Given the description of an element on the screen output the (x, y) to click on. 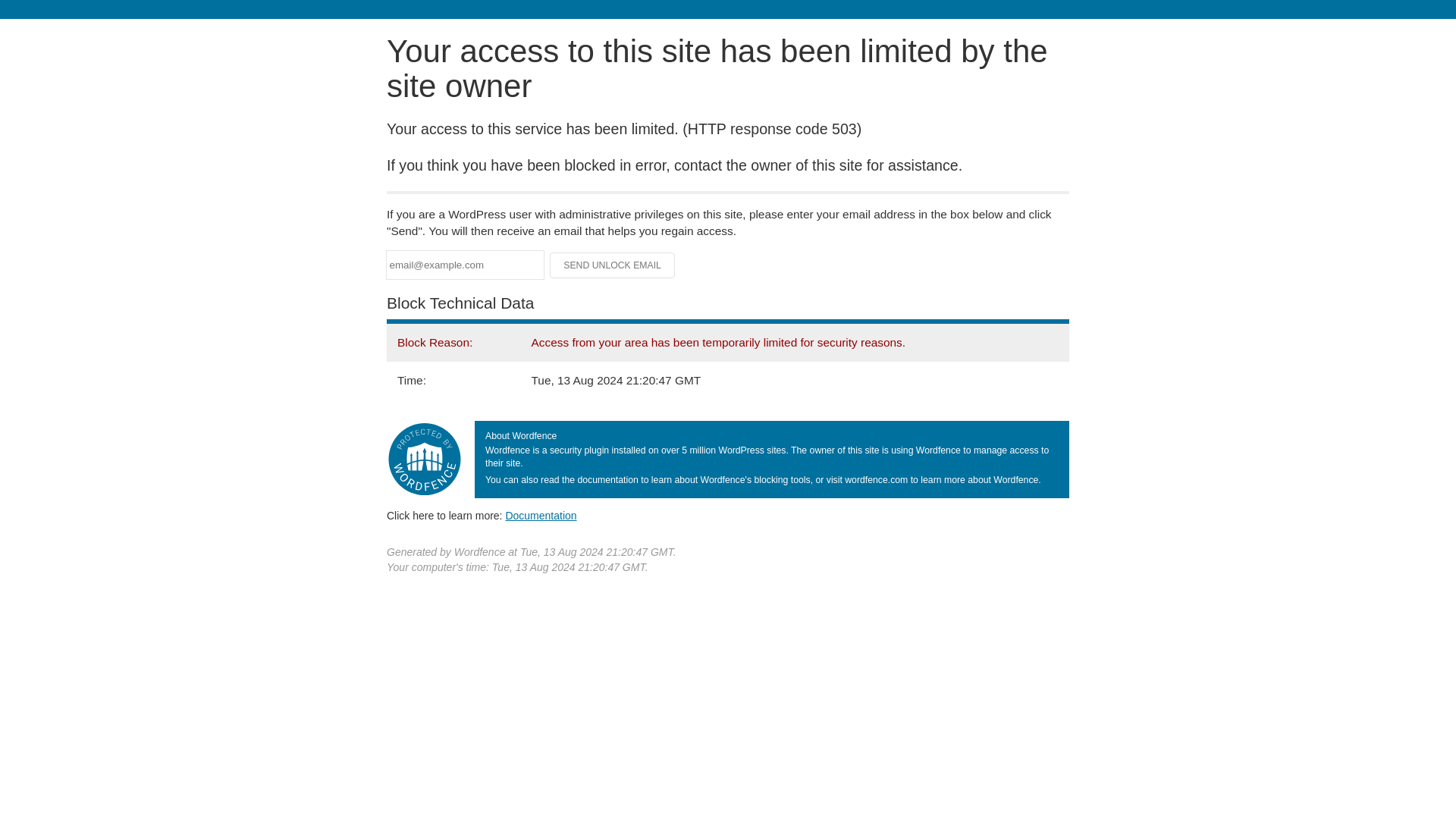
Documentation (540, 515)
Send Unlock Email (612, 265)
Send Unlock Email (612, 265)
